Given the description of an element on the screen output the (x, y) to click on. 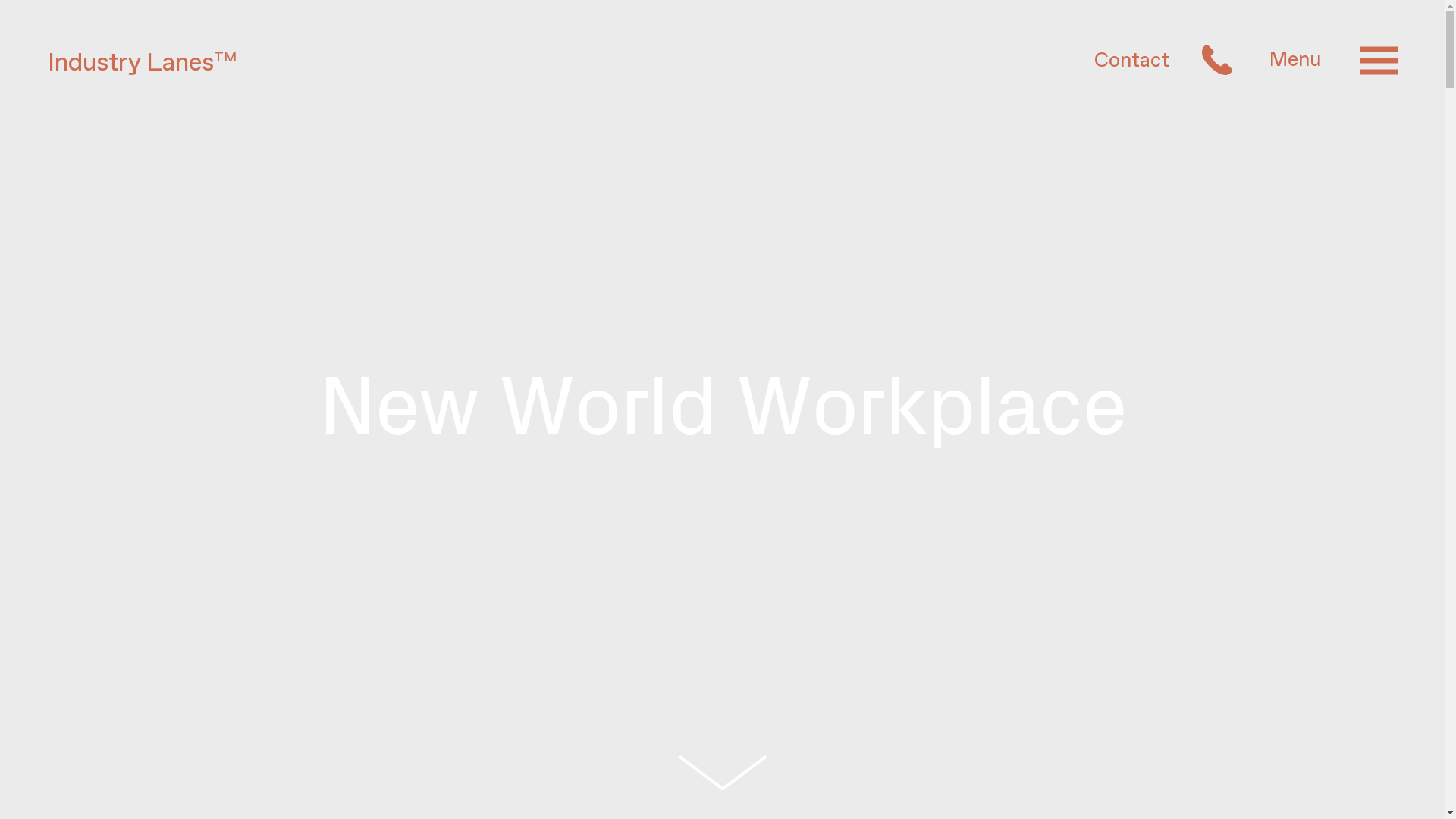
Contact Element type: text (1162, 58)
Industry LanesTM Element type: text (141, 62)
Menu Element type: text (1333, 59)
